Given the description of an element on the screen output the (x, y) to click on. 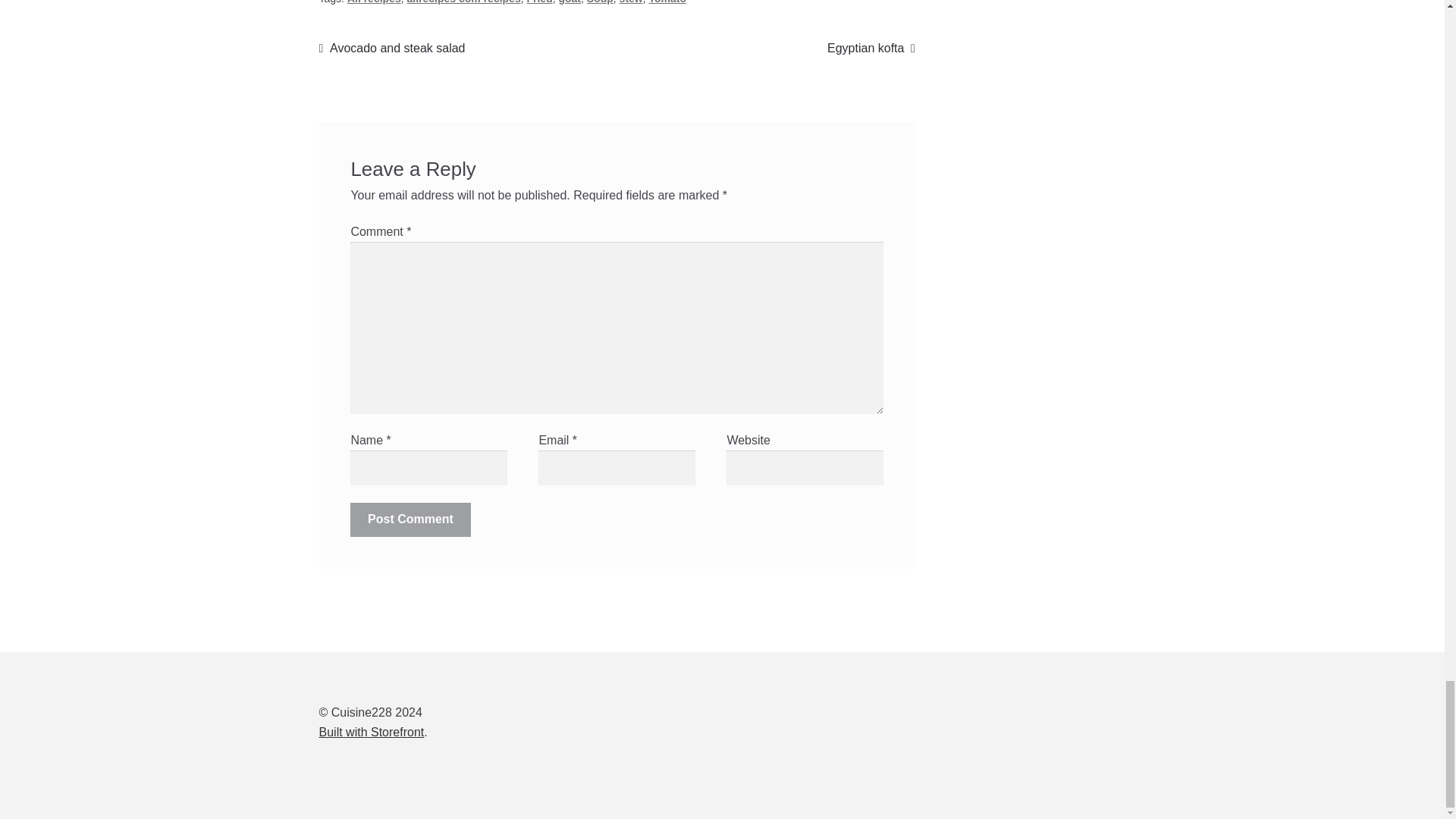
Post Comment (410, 519)
